Given the description of an element on the screen output the (x, y) to click on. 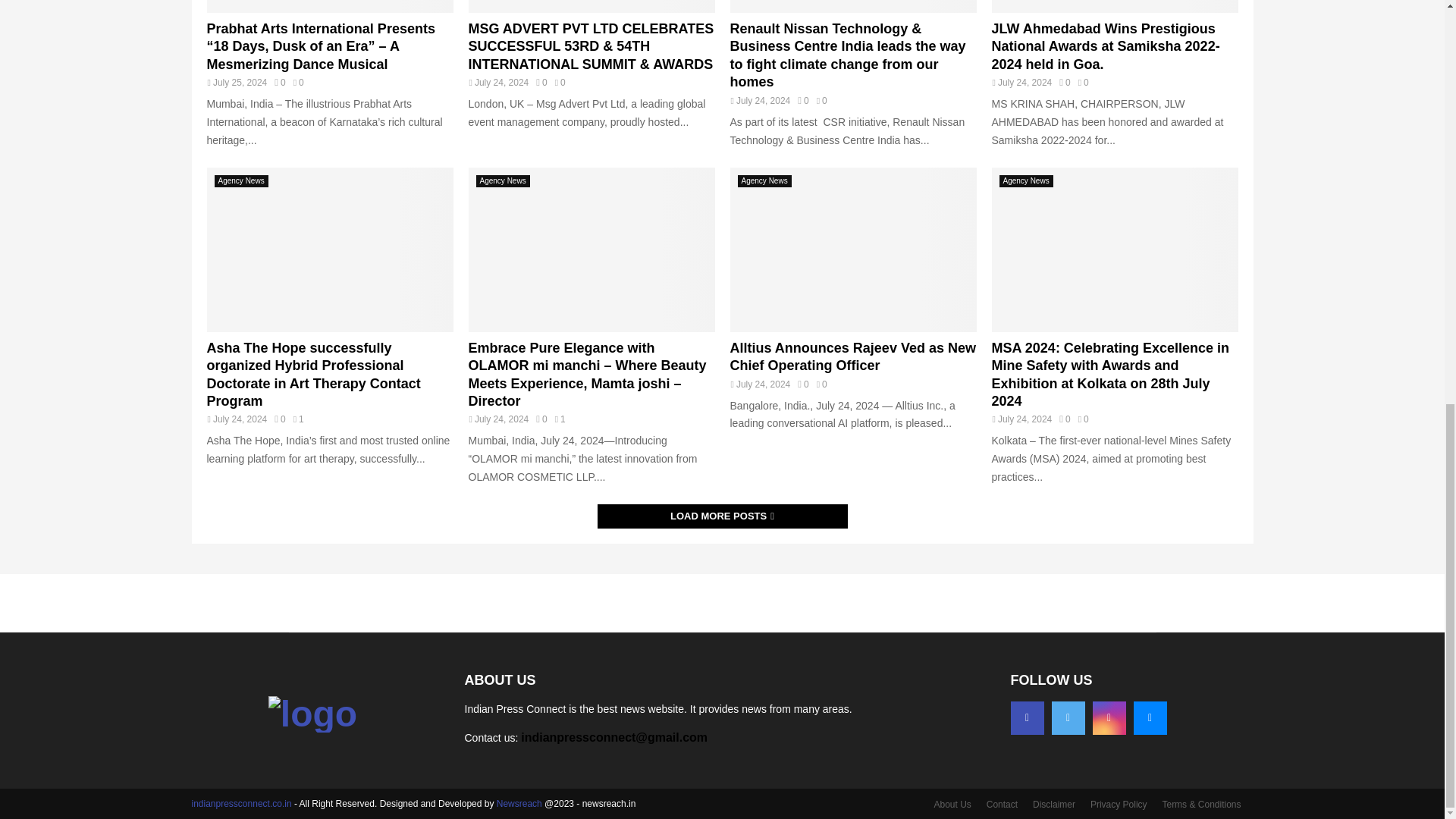
0 (280, 81)
View all posts in Agency News (240, 181)
0 (280, 419)
Agency News (240, 181)
0 (802, 100)
0 (1064, 81)
0 (541, 81)
